Given the description of an element on the screen output the (x, y) to click on. 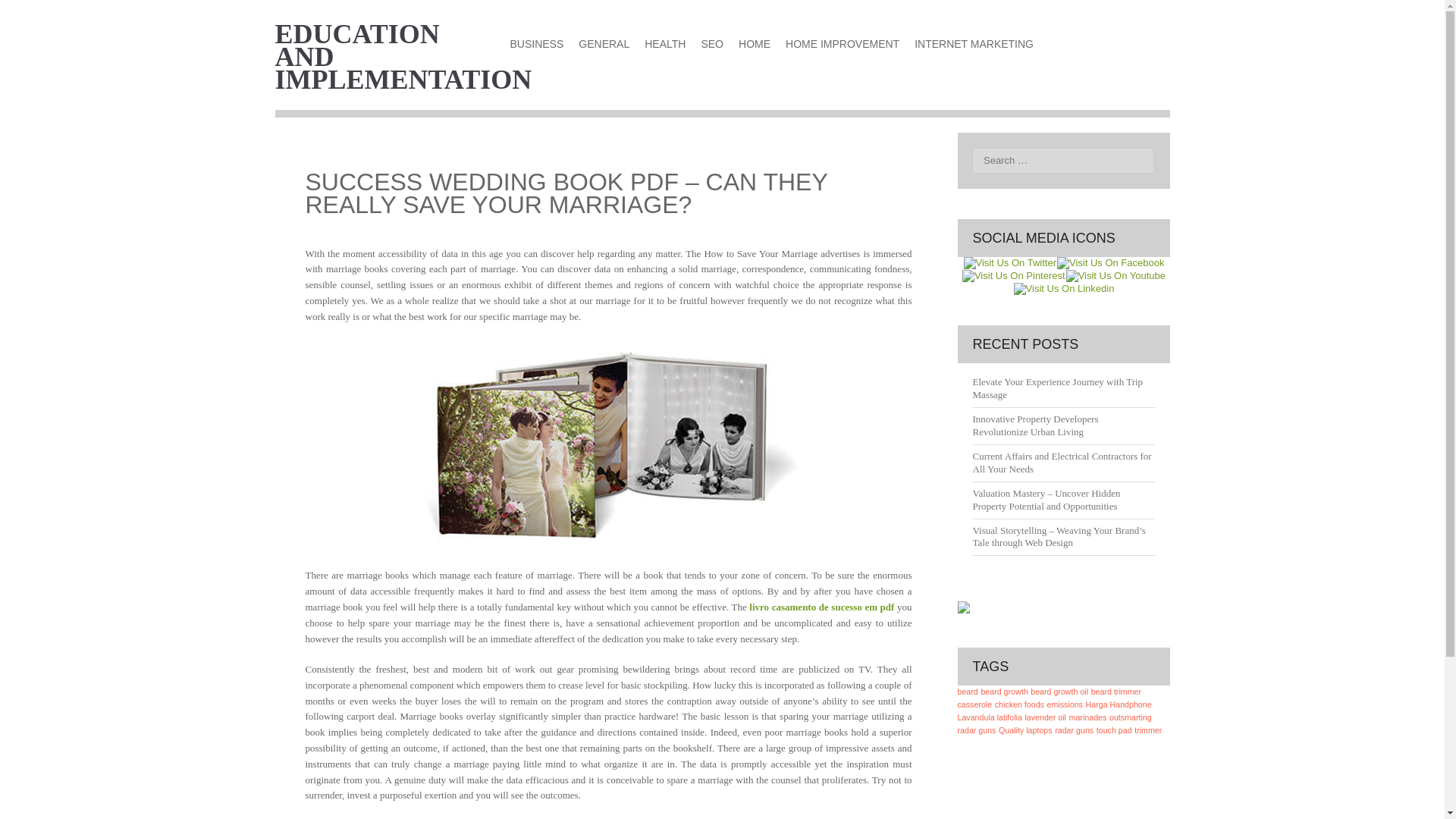
Visit Us On Pinterest (1012, 275)
beard (966, 691)
Education and Implementation (403, 56)
marinades (1087, 716)
GENERAL (603, 43)
Visit Us On Facebook (1110, 262)
beard growth oil (1058, 691)
BUSINESS (536, 43)
HEALTH (665, 43)
Lavandula latifolia (989, 716)
